Given the description of an element on the screen output the (x, y) to click on. 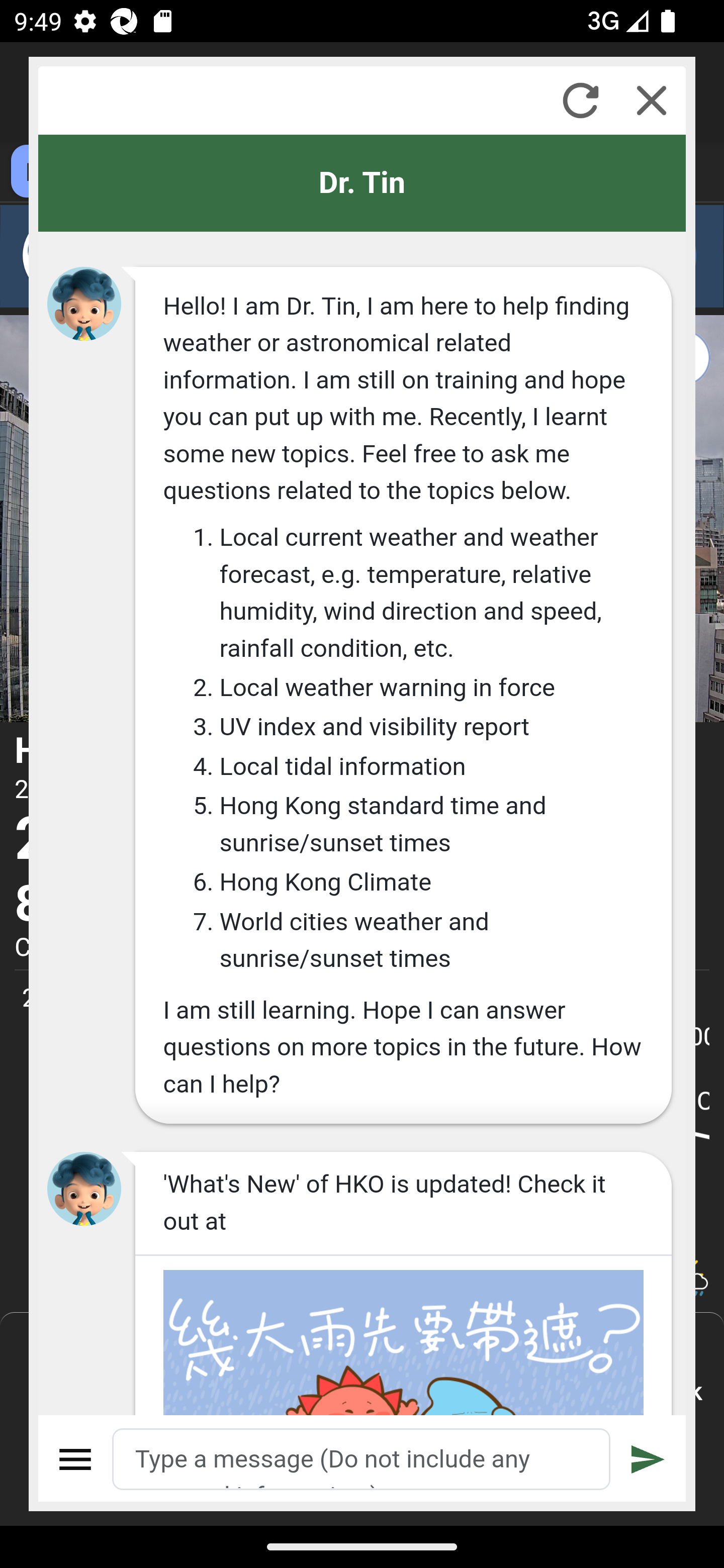
Refresh (580, 100)
Close (651, 100)
Menu (75, 1458)
Submit (648, 1458)
